Given the description of an element on the screen output the (x, y) to click on. 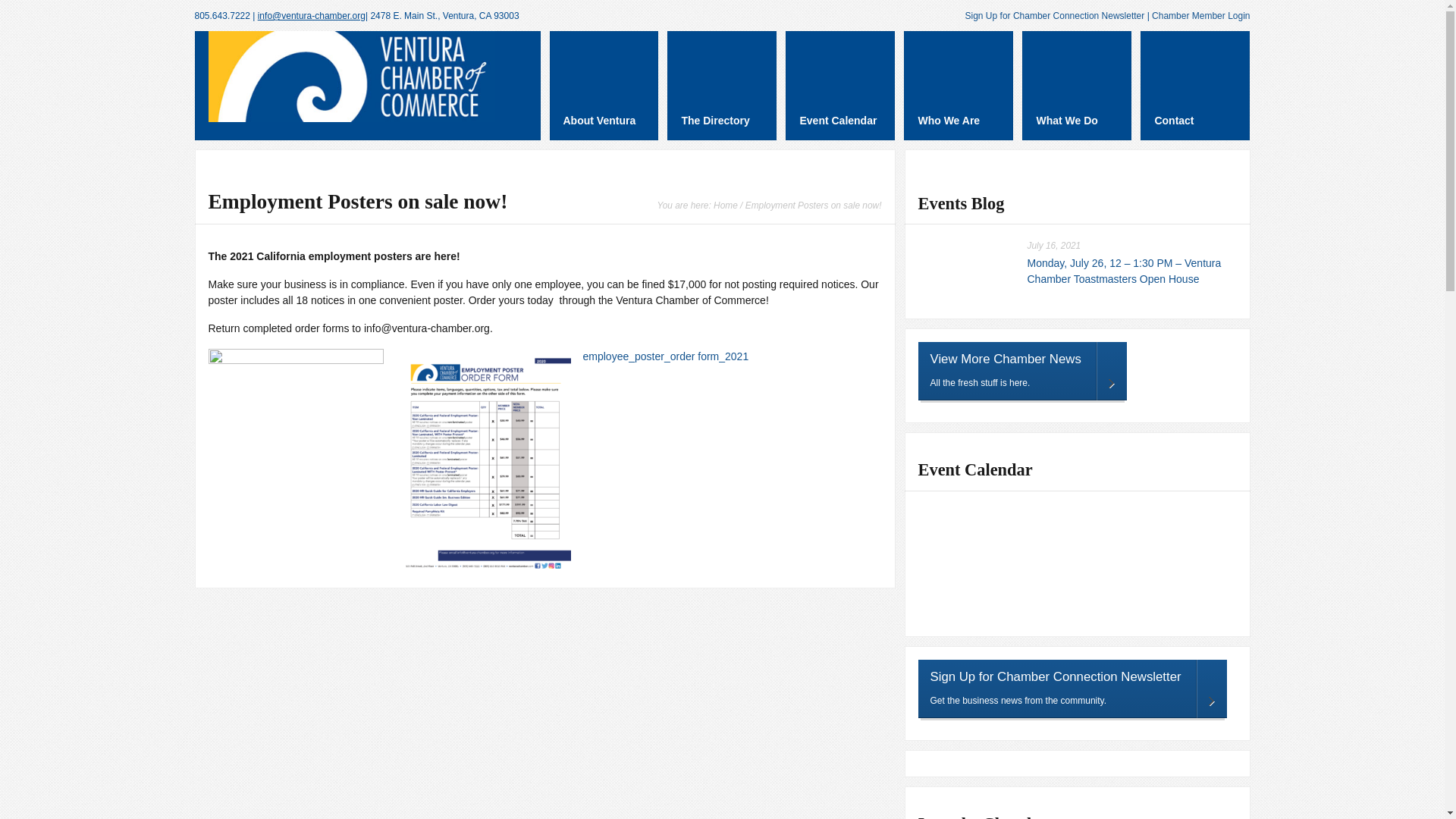
About Ventura (603, 85)
Chamber Member Login (1200, 15)
Who We Are (958, 85)
What We Do (1076, 85)
Event Calendar (840, 85)
The Directory (721, 85)
Sign Up for Chamber Connection Newsletter (1054, 15)
